Given the description of an element on the screen output the (x, y) to click on. 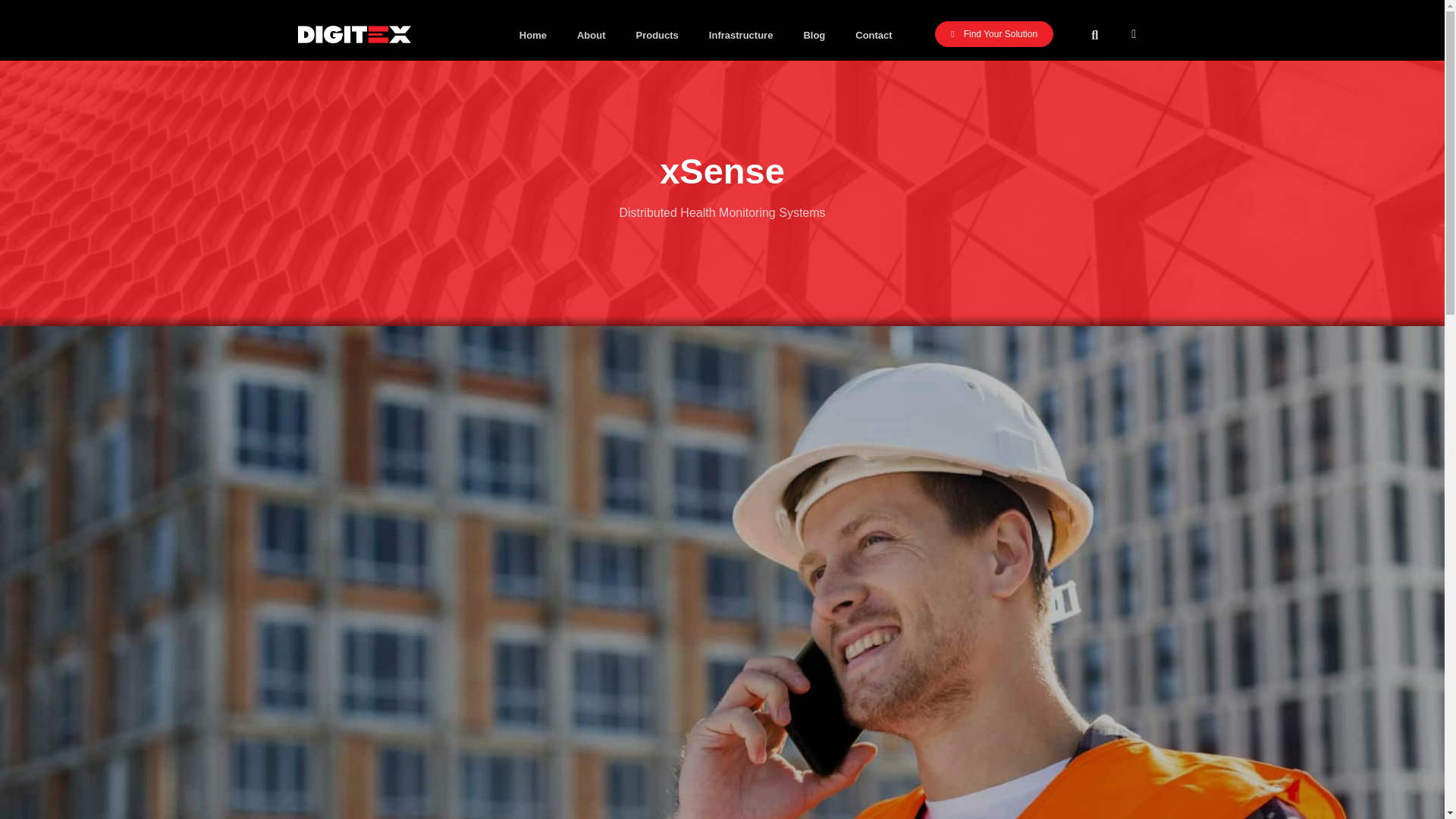
Infrastructure (741, 35)
Contact (873, 35)
About (591, 35)
Products (656, 35)
Home (532, 35)
Blog (813, 35)
Find Your Solution (993, 33)
